Given the description of an element on the screen output the (x, y) to click on. 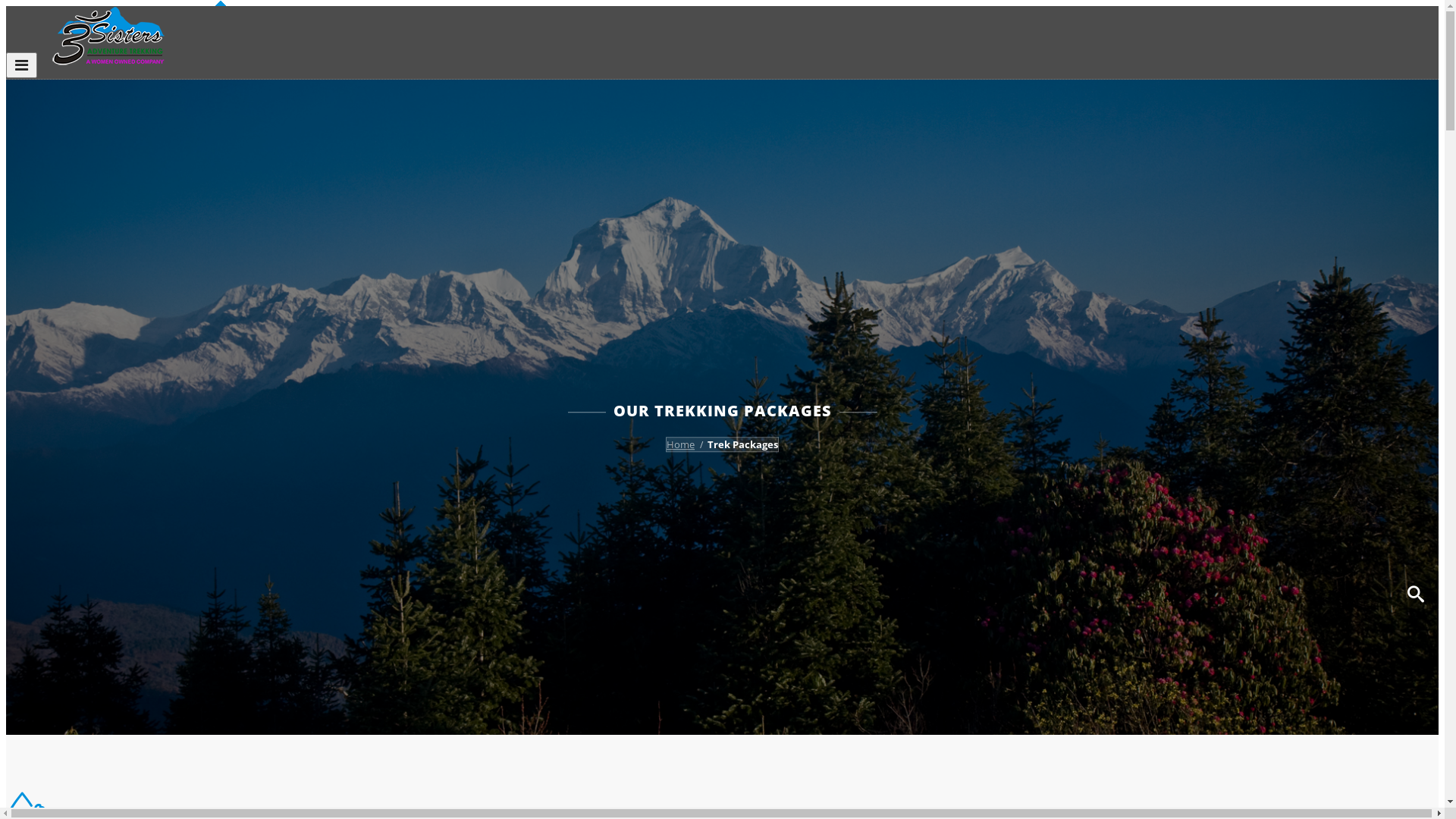
Nepal Element type: text (1295, 248)
Nepal and Bhutan Element type: text (1325, 276)
HOME Element type: text (1300, 81)
TREKS Element type: text (1300, 231)
General Question Element type: text (1324, 480)
What to Bring Element type: text (1315, 494)
ABOUT US Element type: text (1312, 95)
Certificate/Awards Element type: text (1326, 126)
Why 3 sisters? Element type: text (1316, 139)
Gallery Element type: text (1298, 167)
Transportation Element type: text (1318, 358)
BLOG Element type: text (1299, 532)
Jungle Safari Element type: text (1311, 385)
River Rafting Element type: text (1312, 412)
Paragliding Element type: text (1308, 399)
Trek Calendar Element type: text (1315, 317)
Company Overview Element type: text (1328, 112)
Tibet Element type: text (1294, 289)
India Element type: text (1294, 303)
Bungee Jumping and Zip Lining Element type: text (1356, 453)
Testimonials Element type: text (1312, 207)
Helicopter Tour Element type: text (1319, 371)
Our Partners Element type: text (1313, 180)
Bhutan Element type: text (1299, 262)
Trekking Form Element type: text (1316, 521)
Our Team Element type: text (1305, 194)
OUR SERVICES Element type: text (1324, 327)
CONTACT US Element type: text (1319, 545)
Guest House Element type: text (1313, 344)
Rock Climbing Element type: text (1316, 440)
Career Element type: text (1297, 221)
Home Element type: text (680, 444)
Toggle navigation Element type: text (21, 65)
FAQ Element type: text (1294, 463)
Empowering Women of Nepal Element type: text (1354, 153)
Sightseeing Element type: text (1309, 426)
Temperature Element type: text (1313, 508)
